Given the description of an element on the screen output the (x, y) to click on. 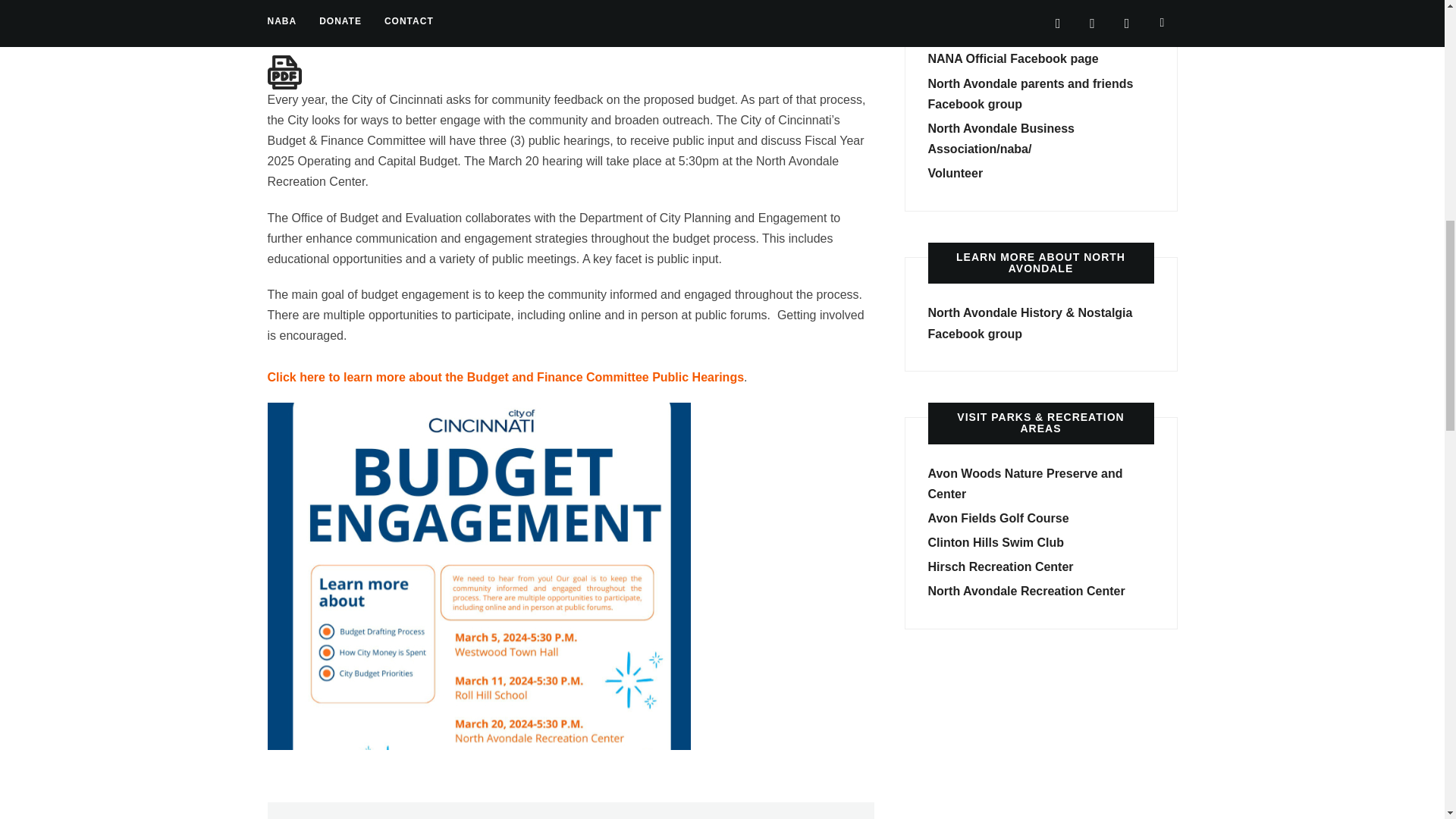
Generate PDF (283, 72)
X (312, 29)
PrintFriendly (373, 29)
Reddit (342, 29)
Facebook (281, 29)
